Given the description of an element on the screen output the (x, y) to click on. 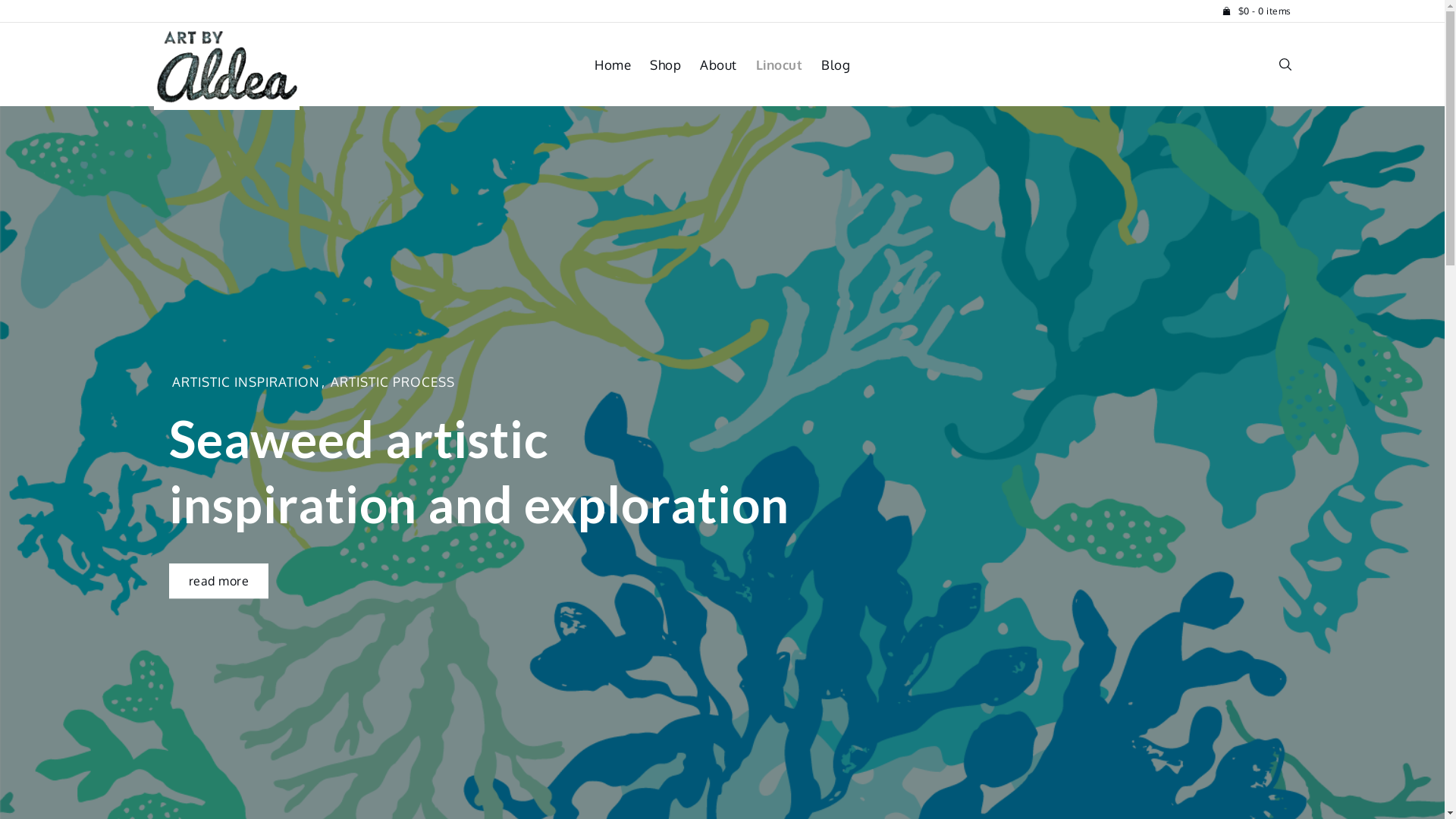
About Element type: text (727, 64)
read more Element type: text (218, 580)
Linocut Element type: text (788, 64)
Home Element type: text (621, 64)
Blog Element type: text (835, 64)
Shop Element type: text (674, 64)
ARTISTIC PROCESS Element type: text (392, 381)
Seaweed artistic inspiration and exploration Element type: text (478, 470)
ARTISTIC INSPIRATION Element type: text (245, 381)
$0 - 0 items Element type: text (1256, 10)
